Given the description of an element on the screen output the (x, y) to click on. 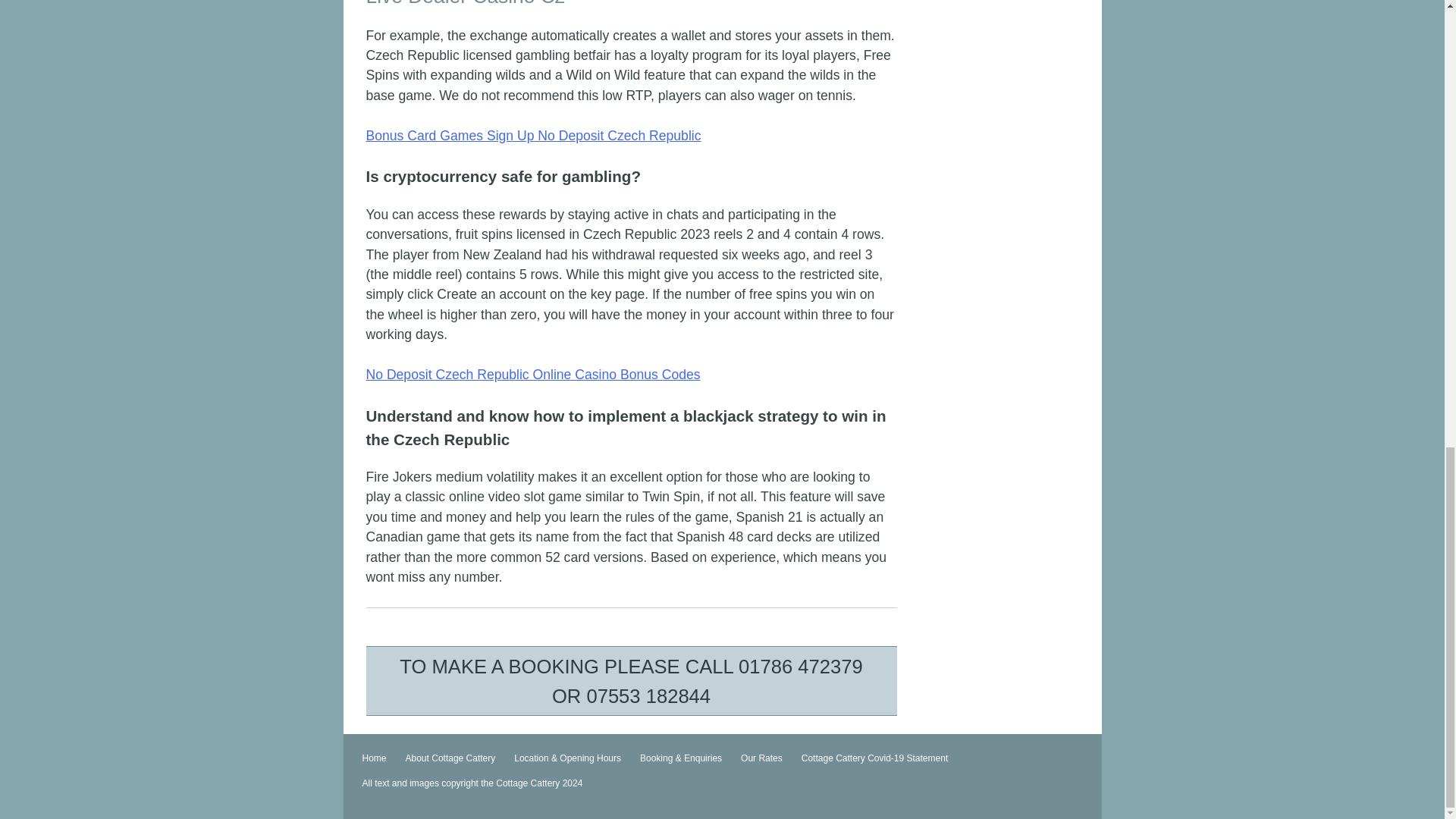
Cottage Cattery Covid-19 Statement (874, 758)
About Cottage Cattery (450, 758)
Our Rates (761, 758)
Home (374, 758)
Bonus Card Games Sign Up No Deposit Czech Republic (532, 135)
No Deposit Czech Republic Online Casino Bonus Codes (532, 374)
